Given the description of an element on the screen output the (x, y) to click on. 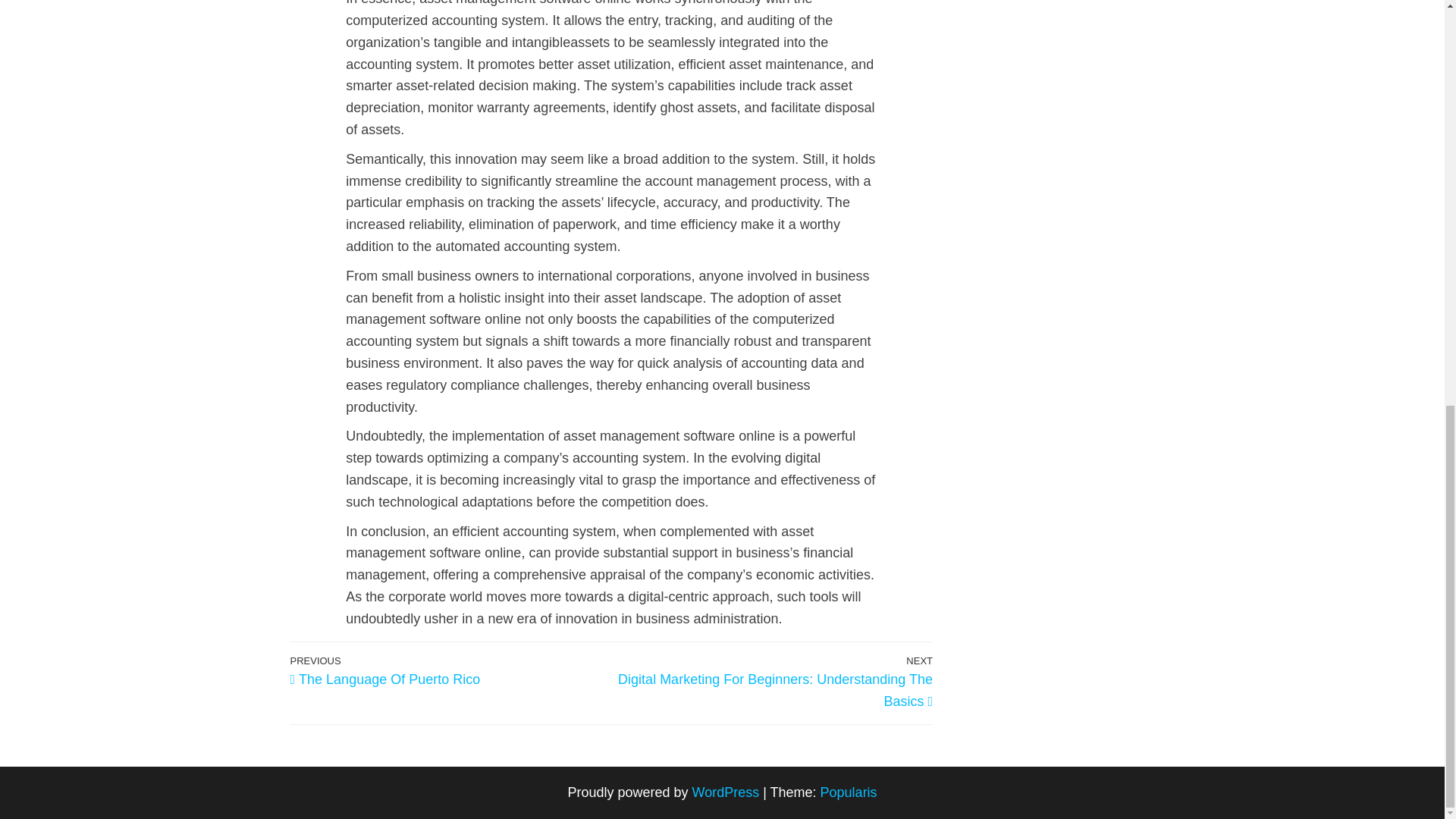
Popularis (450, 670)
WordPress (849, 792)
